Given the description of an element on the screen output the (x, y) to click on. 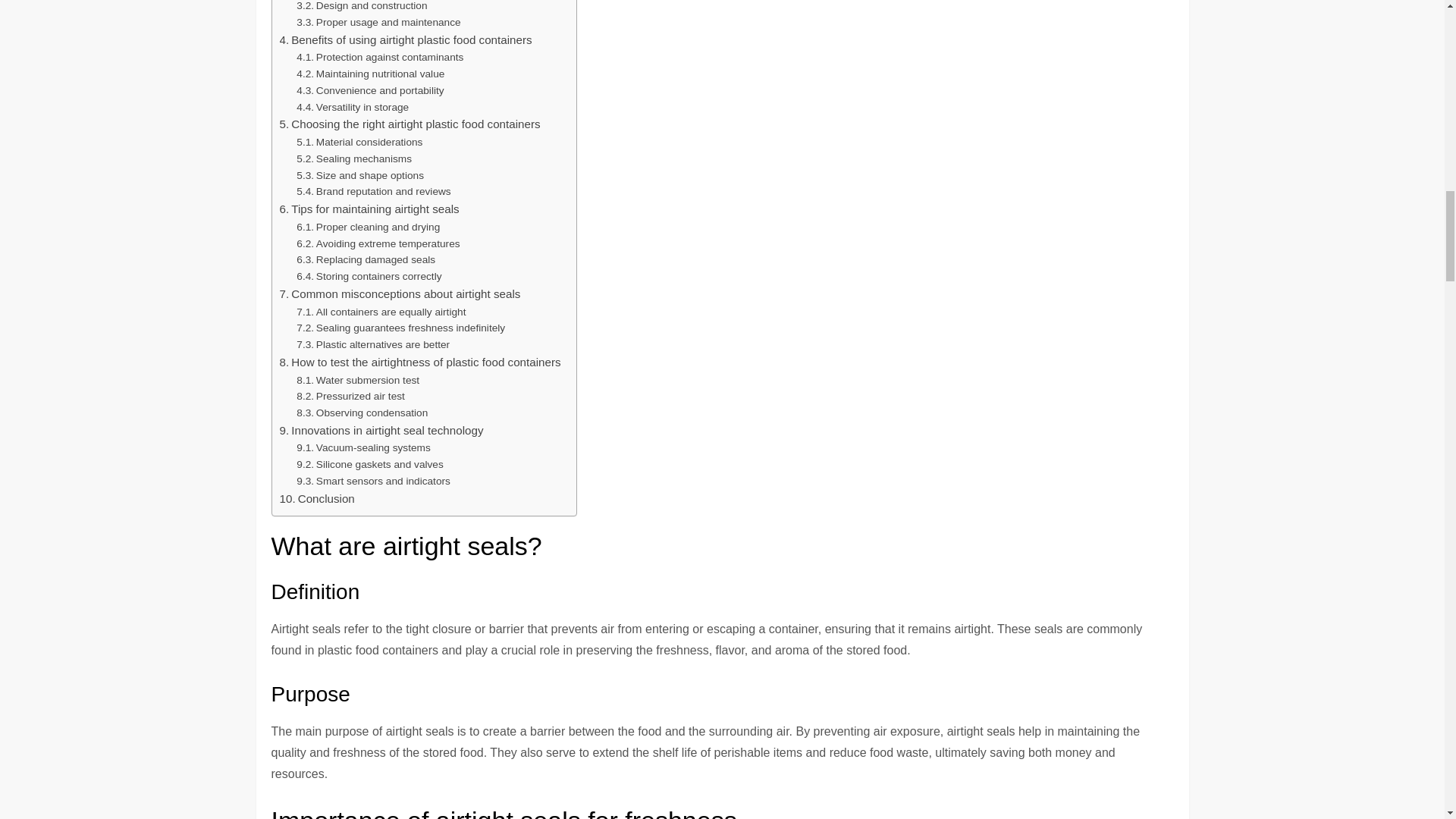
Benefits of using airtight plastic food containers (405, 40)
Choosing the right airtight plastic food containers (409, 124)
Design and construction (361, 7)
Maintaining nutritional value (370, 74)
Protection against contaminants (380, 57)
Proper usage and maintenance (378, 22)
Maintaining nutritional value (370, 74)
Design and construction (361, 7)
Proper usage and maintenance (378, 22)
Convenience and portability (370, 90)
